Given the description of an element on the screen output the (x, y) to click on. 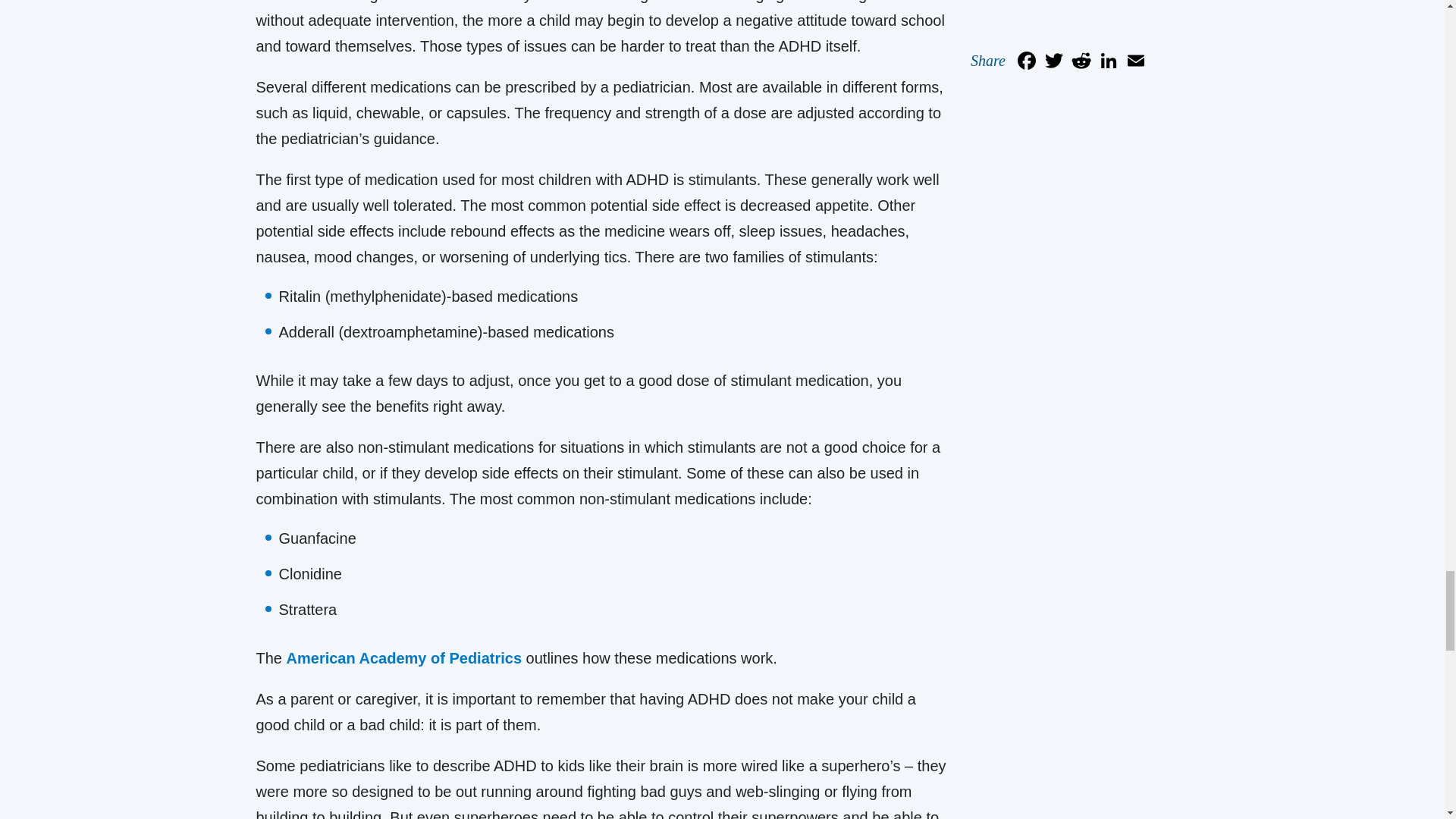
American Academy of Pediatrics (404, 658)
